Given the description of an element on the screen output the (x, y) to click on. 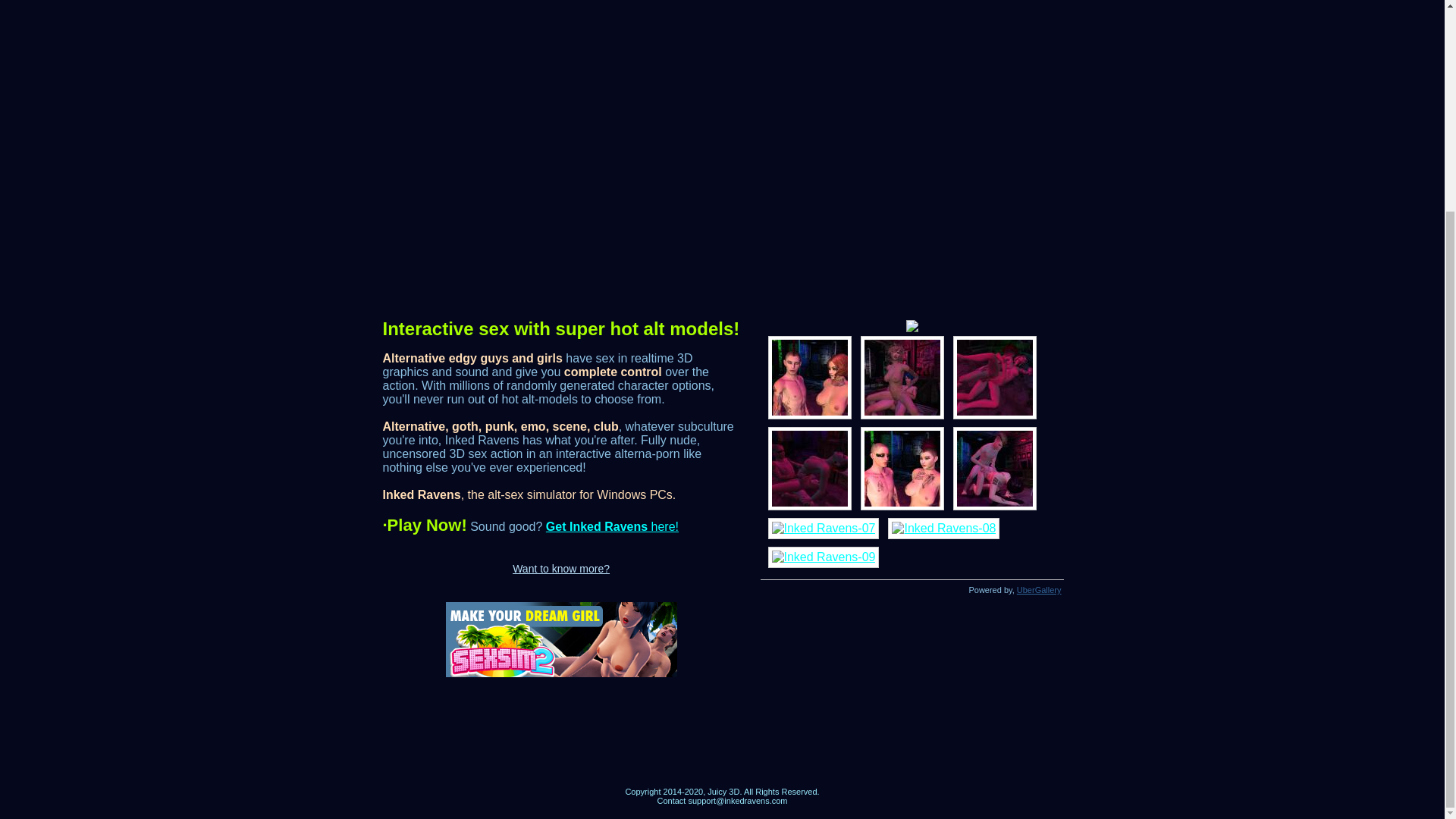
Inked Ravens-02 (901, 377)
Want to know more? (561, 568)
Inked Ravens-08 (943, 527)
Inked Ravens-01 (808, 377)
UberGallery (1038, 589)
Inked Ravens-04 (808, 468)
Inked Ravens-03 (993, 377)
Inked Ravens-06 (993, 468)
Inked Ravens-07 (823, 527)
Get Inked Ravens here! (612, 526)
